Given the description of an element on the screen output the (x, y) to click on. 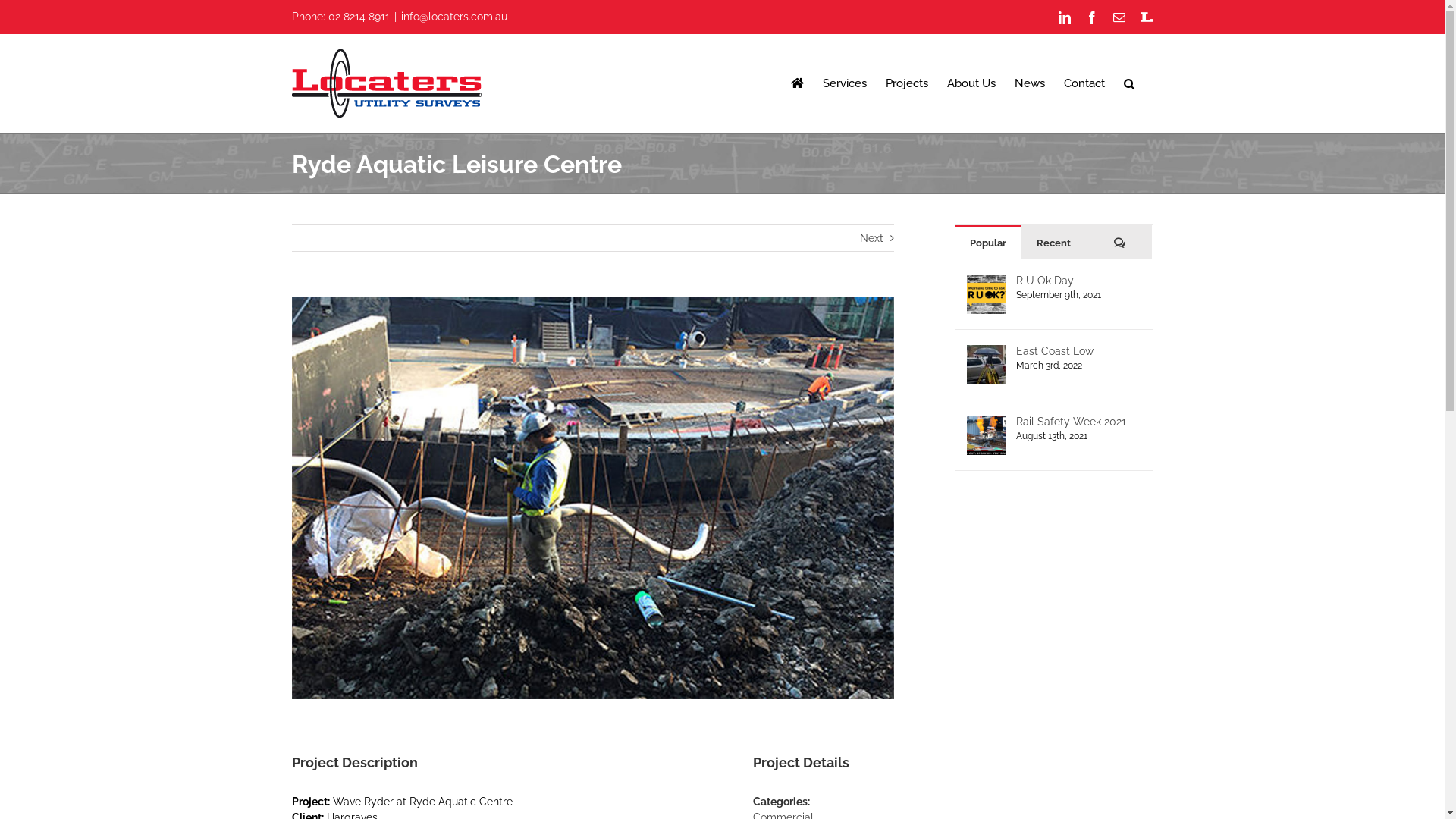
Facebook Element type: text (1091, 16)
Staff Portal Element type: text (1146, 16)
Contact Element type: text (1083, 83)
Rail Safety Week 2021 Element type: text (1078, 421)
LinkedIn Element type: text (1064, 16)
East Coast Low Element type: text (1078, 350)
Next Element type: text (871, 238)
R U Ok Day Element type: text (1078, 280)
View Larger Image Element type: text (592, 498)
Recent Element type: text (1053, 242)
Popular Element type: text (987, 242)
Email Element type: text (1119, 16)
Services Element type: text (844, 83)
Comments Element type: text (1119, 242)
Search Element type: hover (1128, 83)
info@locaters.com.au Element type: text (453, 16)
About Us Element type: text (970, 83)
Projects Element type: text (906, 83)
News Element type: text (1029, 83)
